Given the description of an element on the screen output the (x, y) to click on. 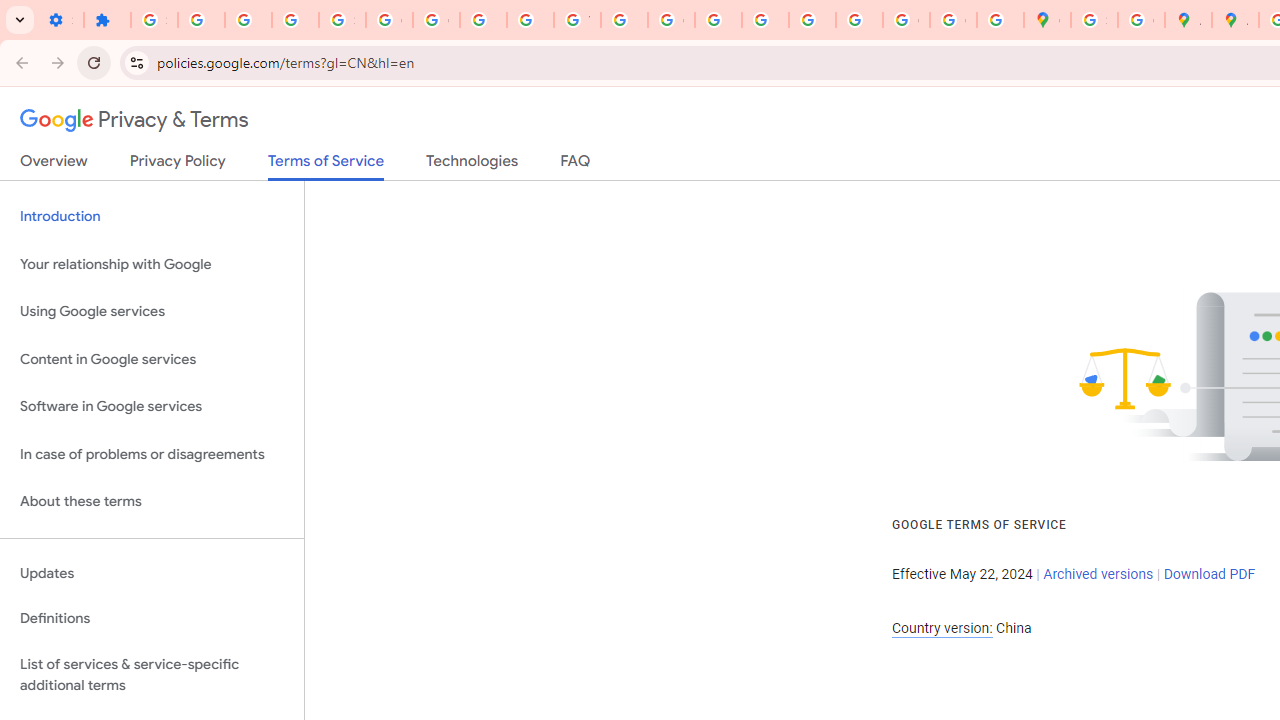
Archived versions (1098, 574)
About these terms (152, 502)
Privacy Help Center - Policies Help (718, 20)
